Given the description of an element on the screen output the (x, y) to click on. 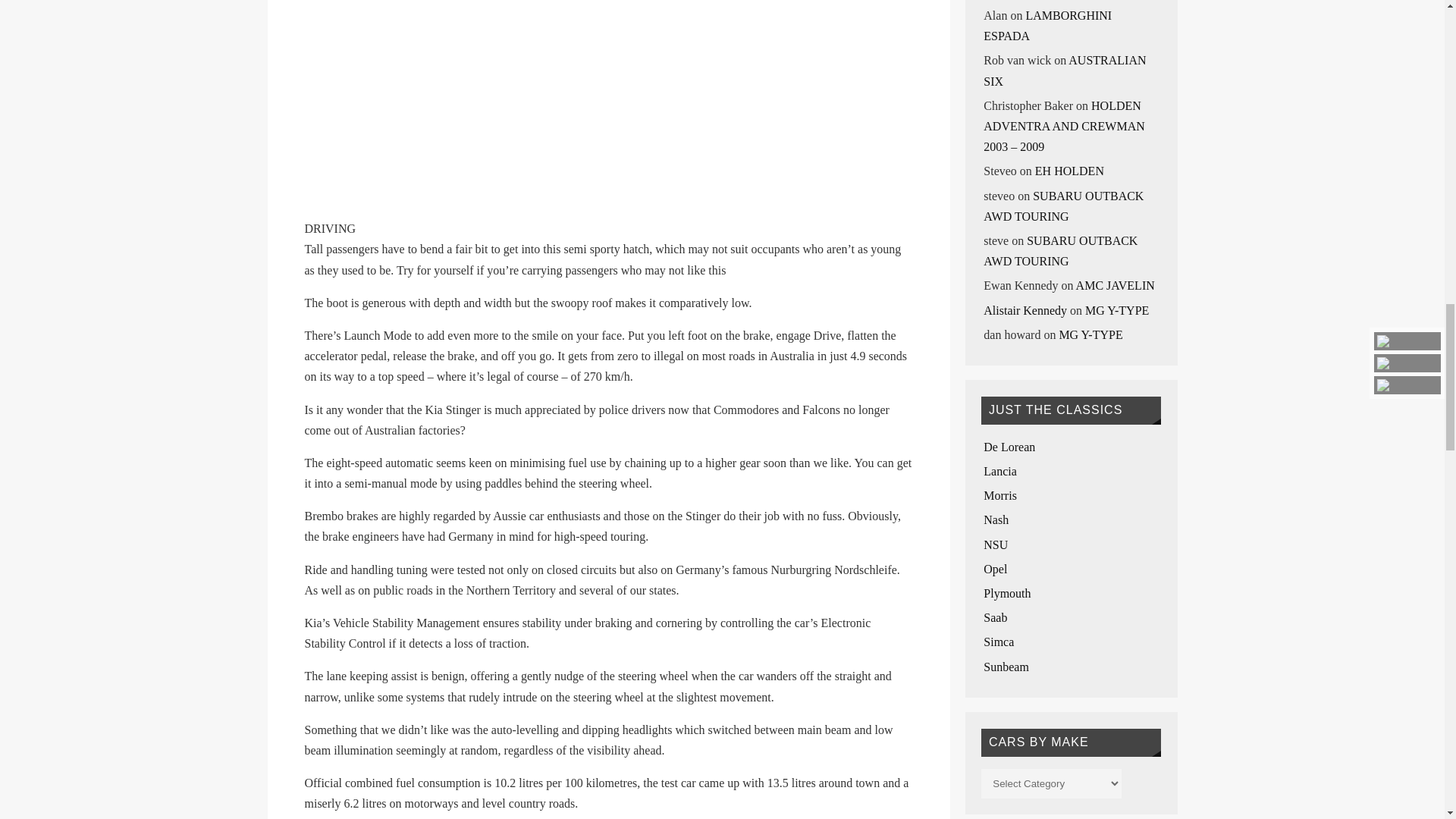
MG Y-TYPE (1090, 334)
AUSTRALIAN SIX (1064, 70)
SUBARU OUTBACK AWD TOURING (1060, 250)
LAMBORGHINI ESPADA (1048, 25)
AMC JAVELIN (1114, 285)
MG Y-TYPE (1116, 309)
Alistair Kennedy (1025, 309)
SUBARU OUTBACK AWD TOURING (1063, 205)
EH HOLDEN (1069, 170)
